Given the description of an element on the screen output the (x, y) to click on. 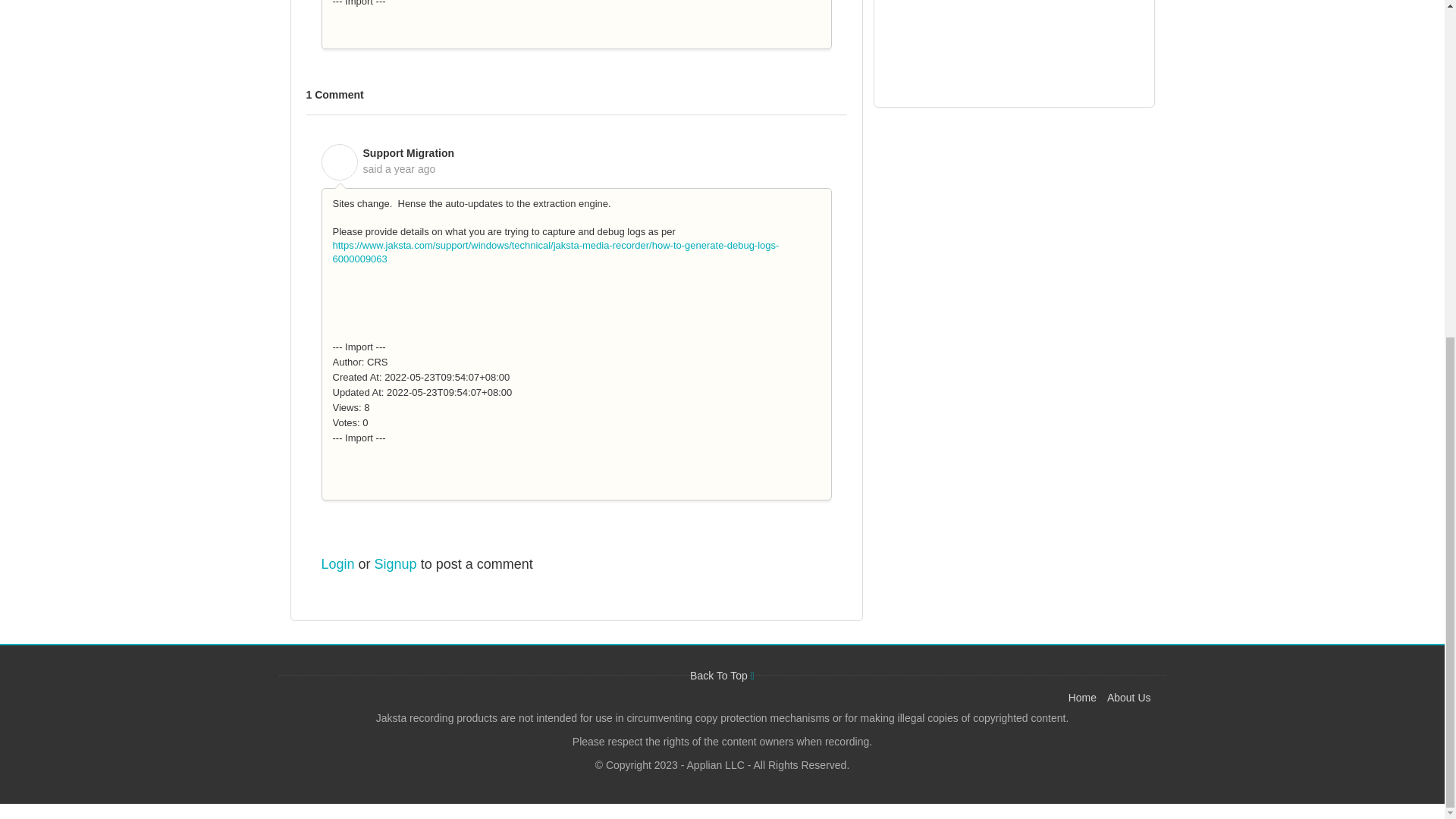
Signup (395, 563)
Back to top (722, 675)
Login (338, 563)
Mon, 8 May, 2023 at  2:40 AM (410, 168)
